Given the description of an element on the screen output the (x, y) to click on. 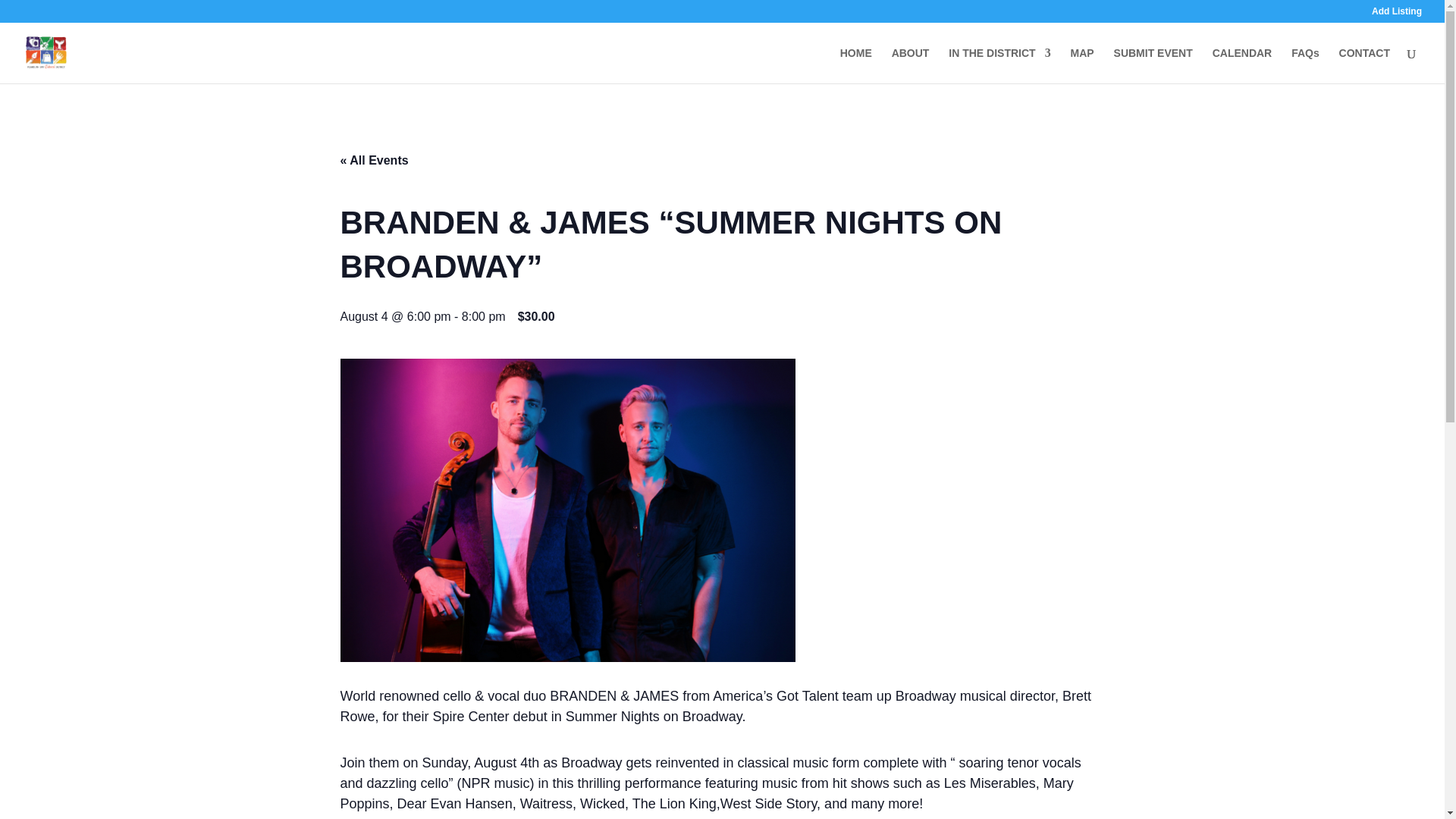
SUBMIT EVENT (1152, 65)
CONTACT (1364, 65)
HOME (856, 65)
Add Listing (1396, 14)
CALENDAR (1242, 65)
IN THE DISTRICT (999, 65)
ABOUT (910, 65)
